Given the description of an element on the screen output the (x, y) to click on. 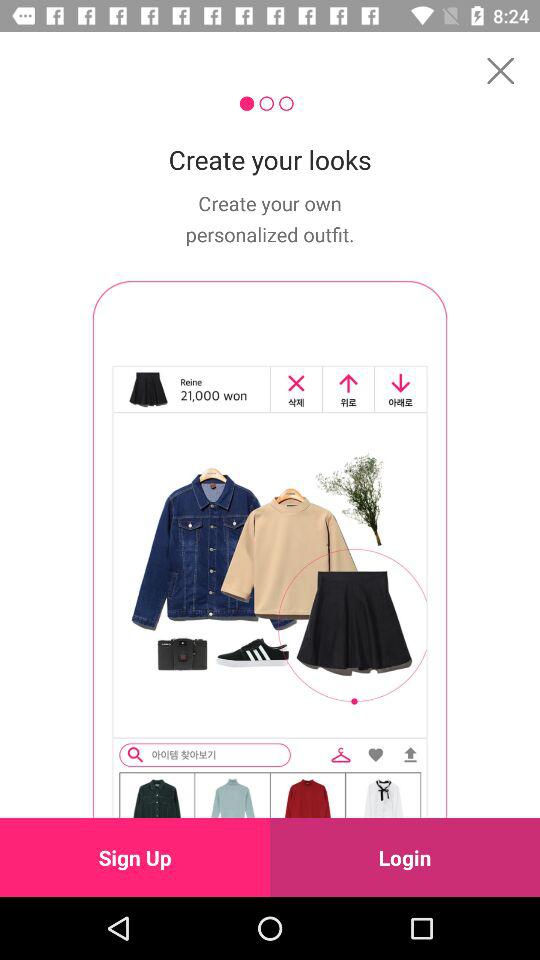
turn off sign up icon (135, 857)
